Given the description of an element on the screen output the (x, y) to click on. 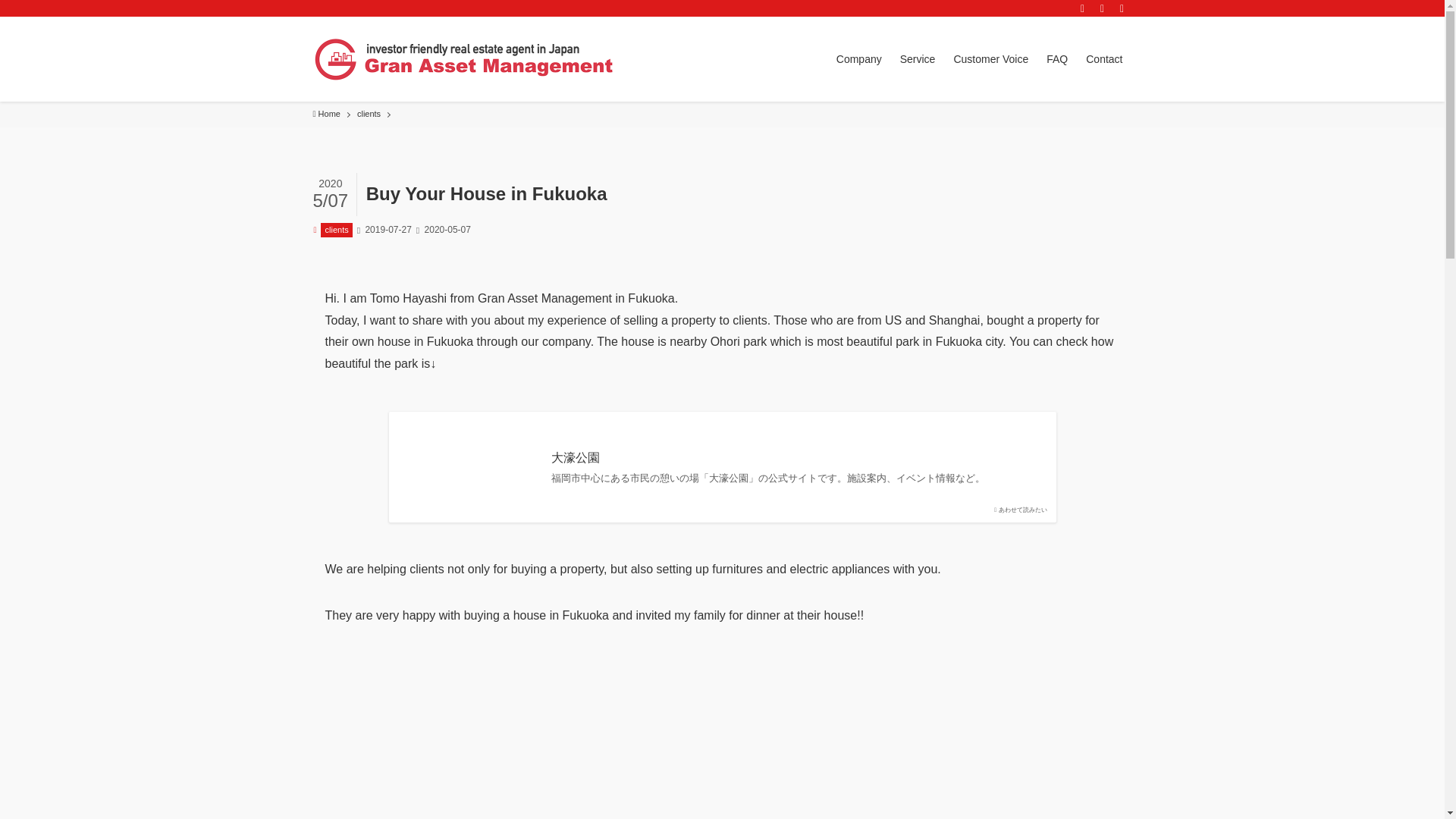
clients (336, 229)
Customer Voice (989, 58)
clients (368, 114)
Home (326, 114)
